Given the description of an element on the screen output the (x, y) to click on. 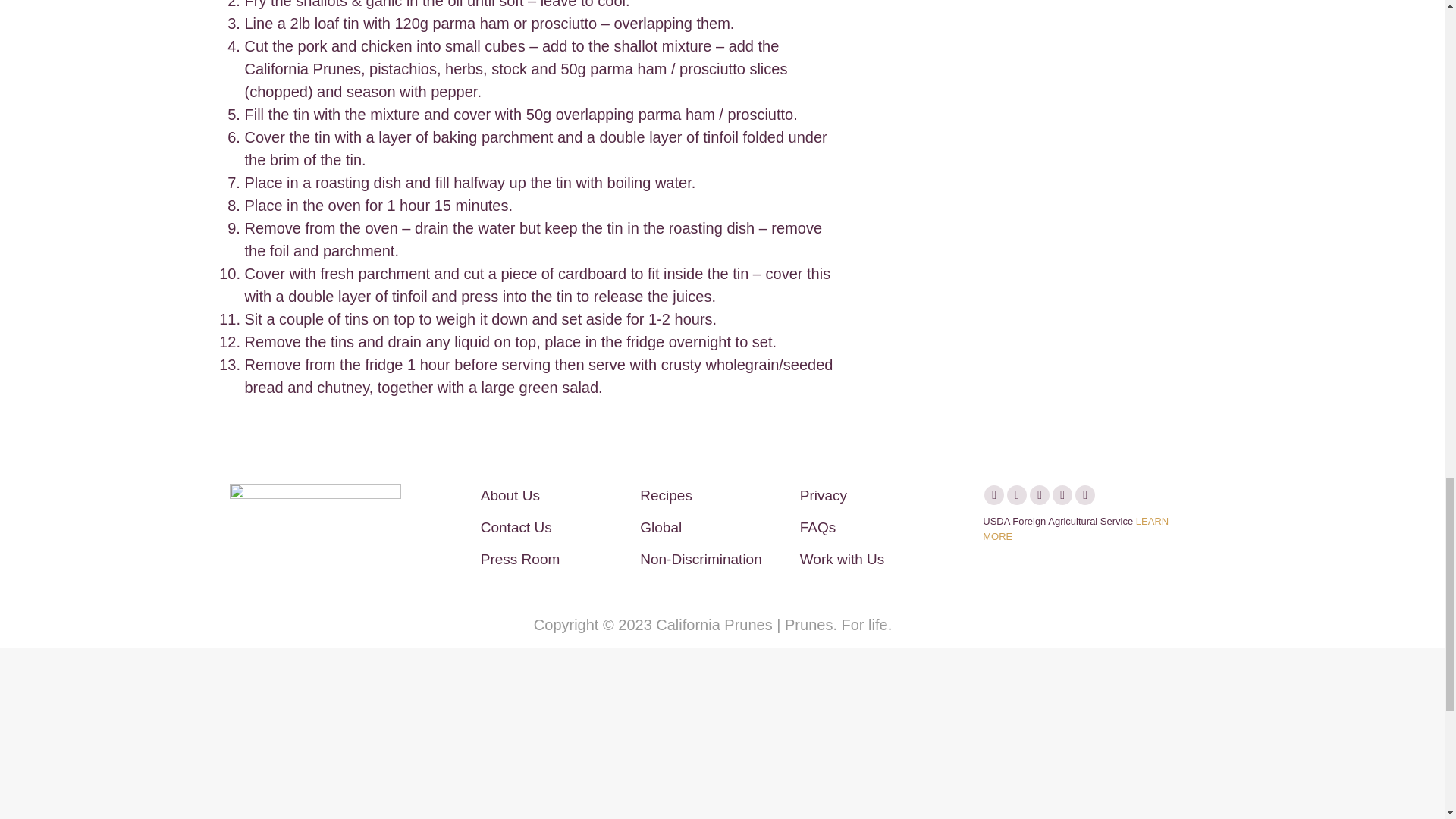
YouTube (1061, 495)
Facebook (994, 495)
Linkedin (1084, 495)
LEARN MORE (1075, 528)
Instagram (1016, 495)
Pinterest (1039, 495)
